Given the description of an element on the screen output the (x, y) to click on. 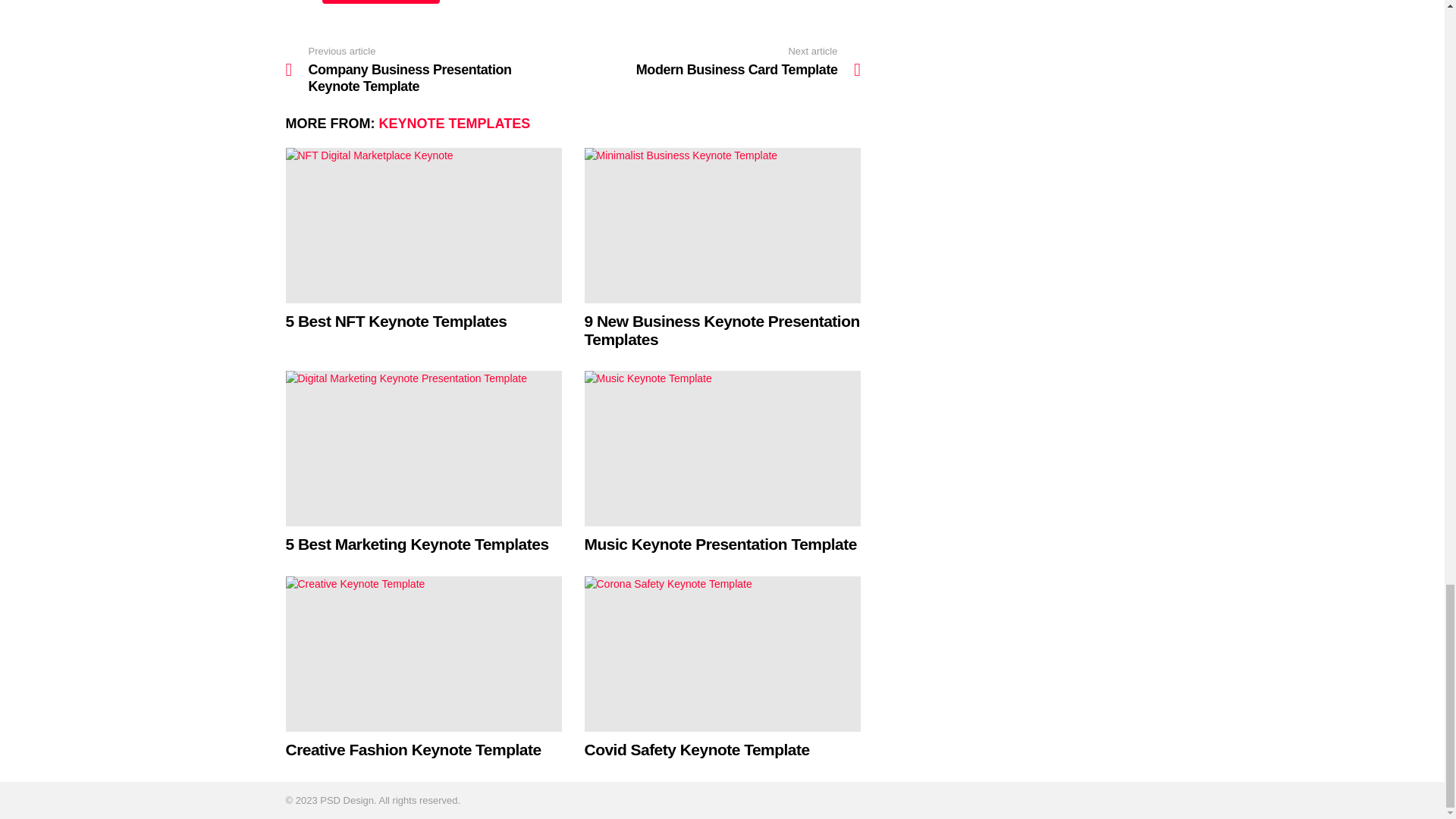
9 New Business Keynote Presentation Templates (721, 225)
5 Best NFT Keynote Templates (422, 225)
Music Keynote Presentation Template (721, 448)
5 Best Marketing Keynote Templates (422, 448)
Creative Fashion Keynote Template (422, 654)
Covid Safety Keynote Template (721, 654)
